Given the description of an element on the screen output the (x, y) to click on. 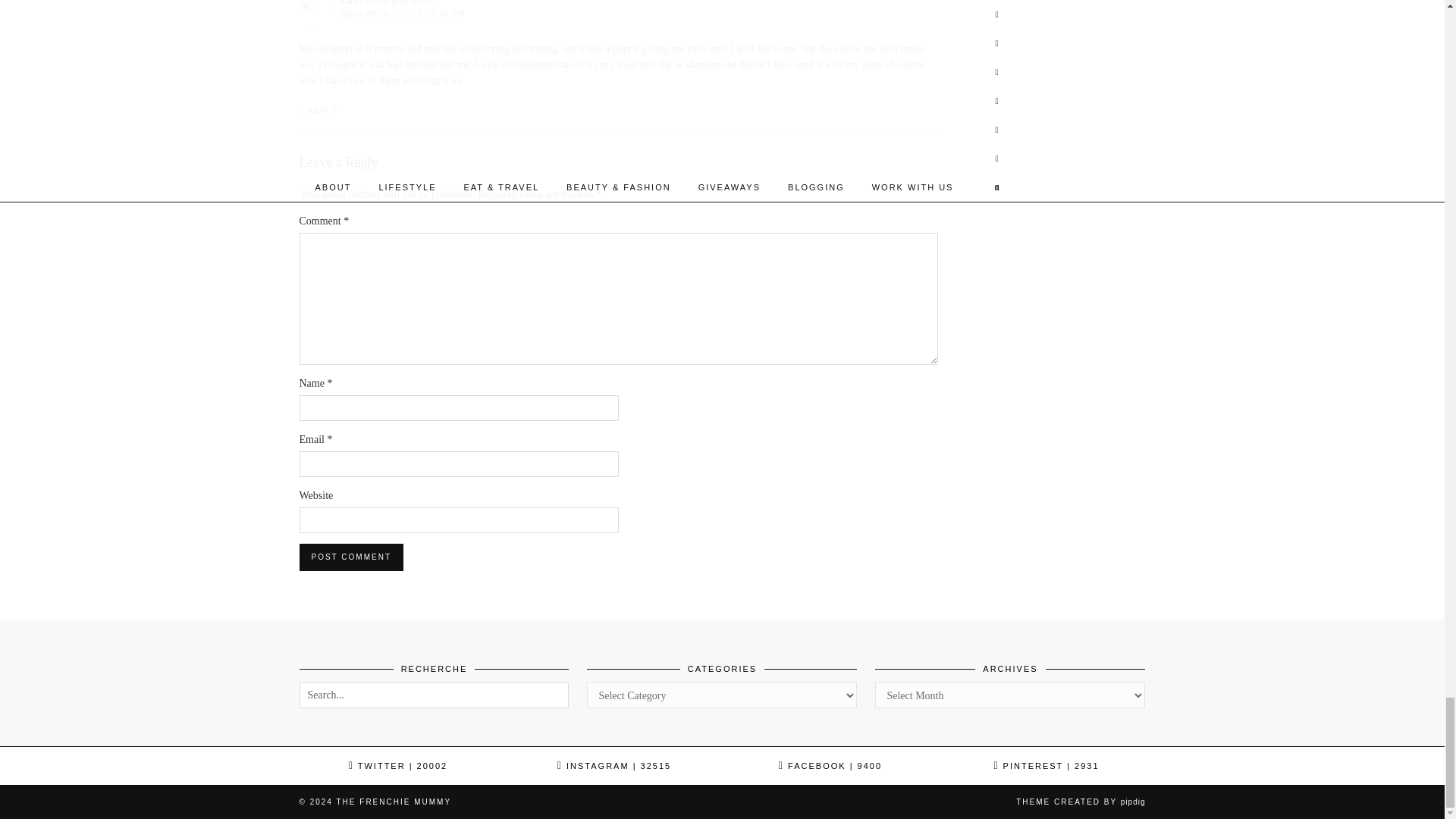
Post Comment (350, 556)
